Given the description of an element on the screen output the (x, y) to click on. 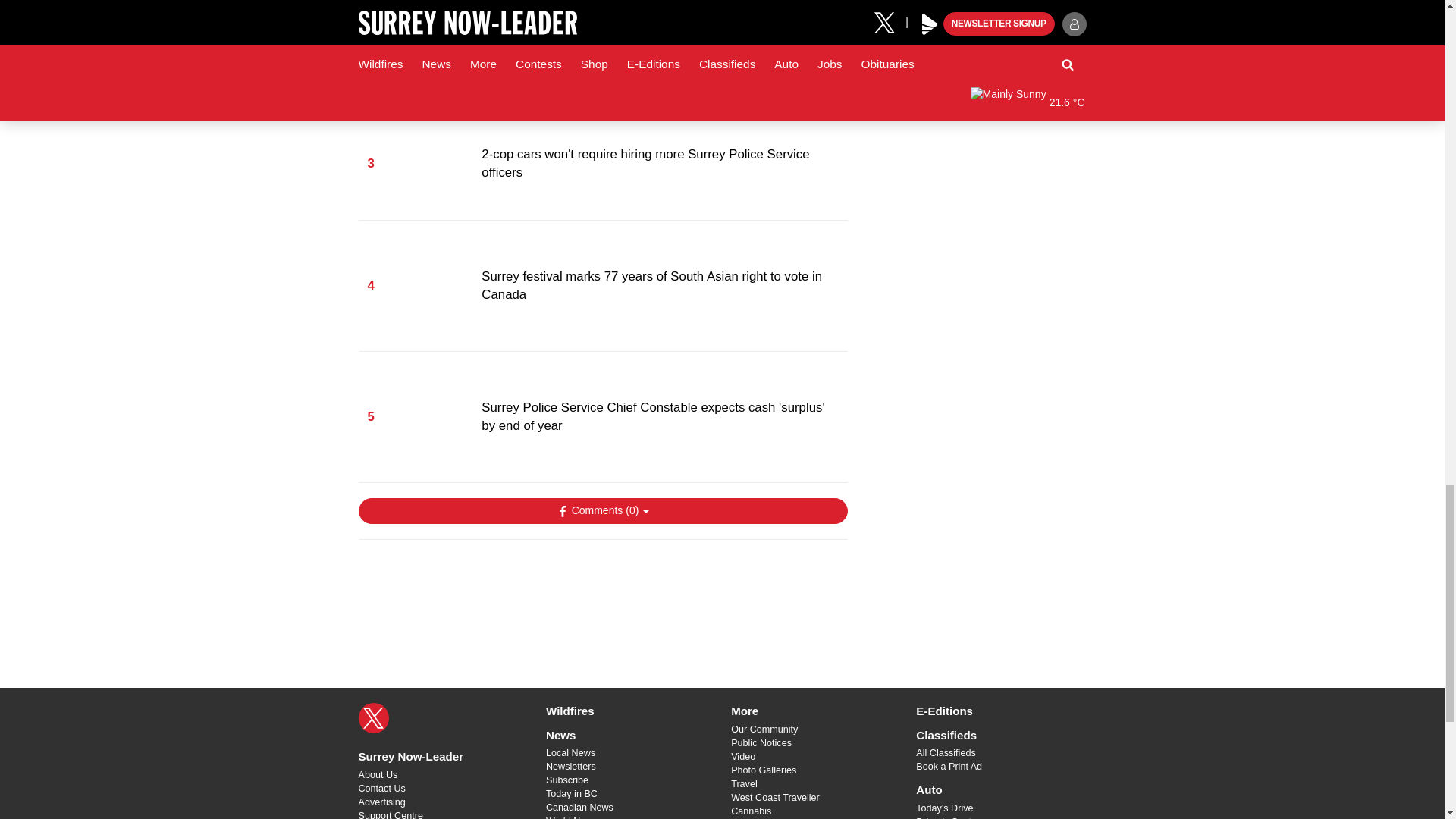
Show Comments (602, 510)
X (373, 717)
